Given the description of an element on the screen output the (x, y) to click on. 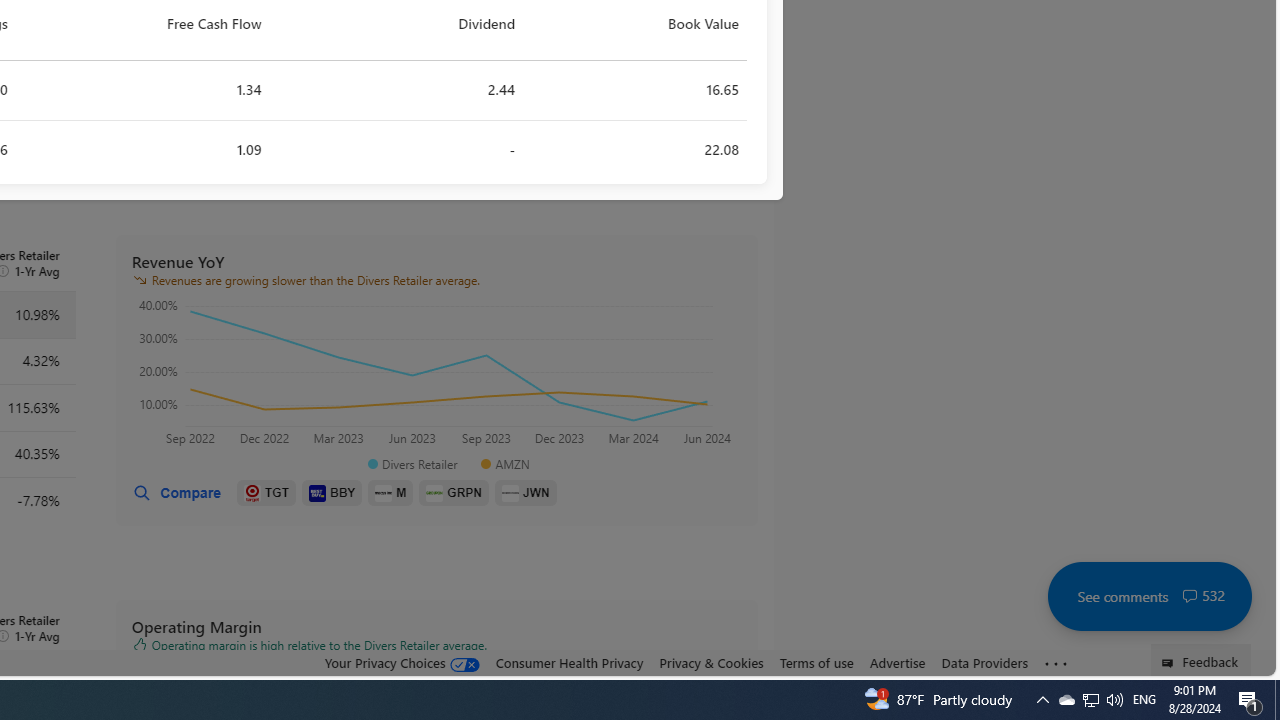
Compare (175, 493)
Consumer Health Privacy (569, 662)
Terms of use (816, 663)
Class: imagIcon-DS-EntryPoint1-1 (510, 492)
Privacy & Cookies (711, 662)
TGT (265, 493)
JWN (525, 493)
Class: oneFooter_seeMore-DS-EntryPoint1-1 (1055, 663)
Terms of use (816, 662)
Class: feedback_link_icon-DS-EntryPoint1-1 (1170, 663)
